Given the description of an element on the screen output the (x, y) to click on. 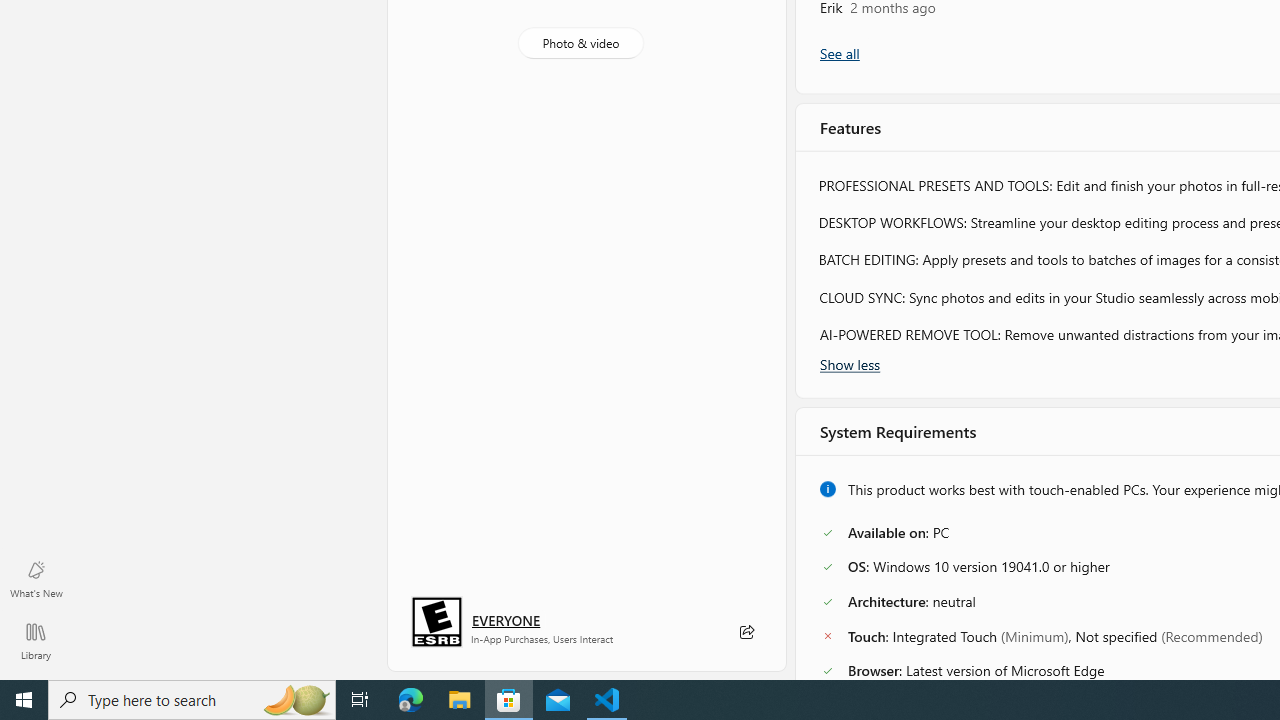
Photo & video (579, 43)
Age rating: EVERYONE. Click for more information. (506, 619)
Share (746, 632)
Show less (850, 363)
Show all ratings and reviews (838, 53)
